Given the description of an element on the screen output the (x, y) to click on. 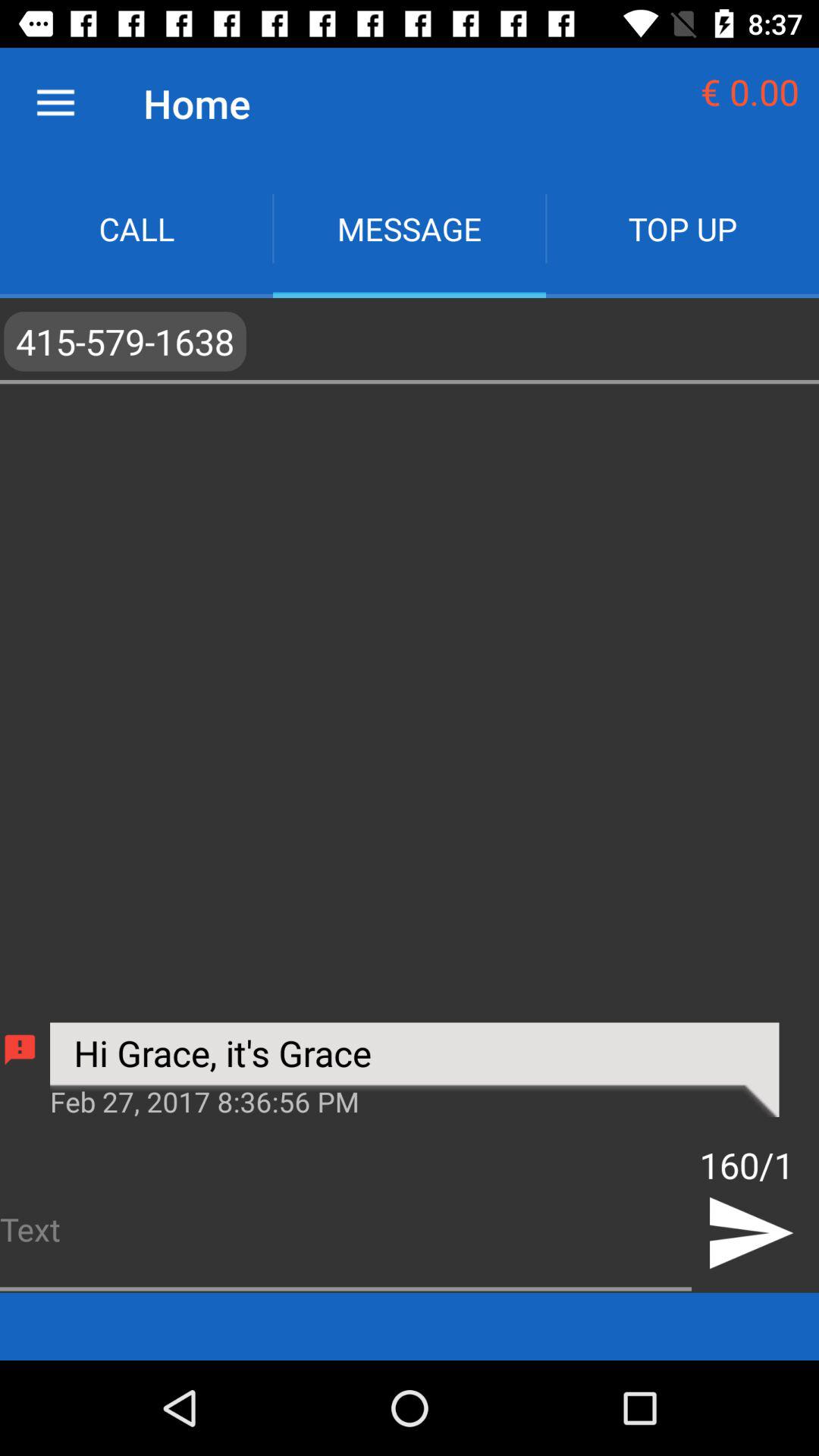
turn off item above the 160/1 icon (414, 1069)
